Given the description of an element on the screen output the (x, y) to click on. 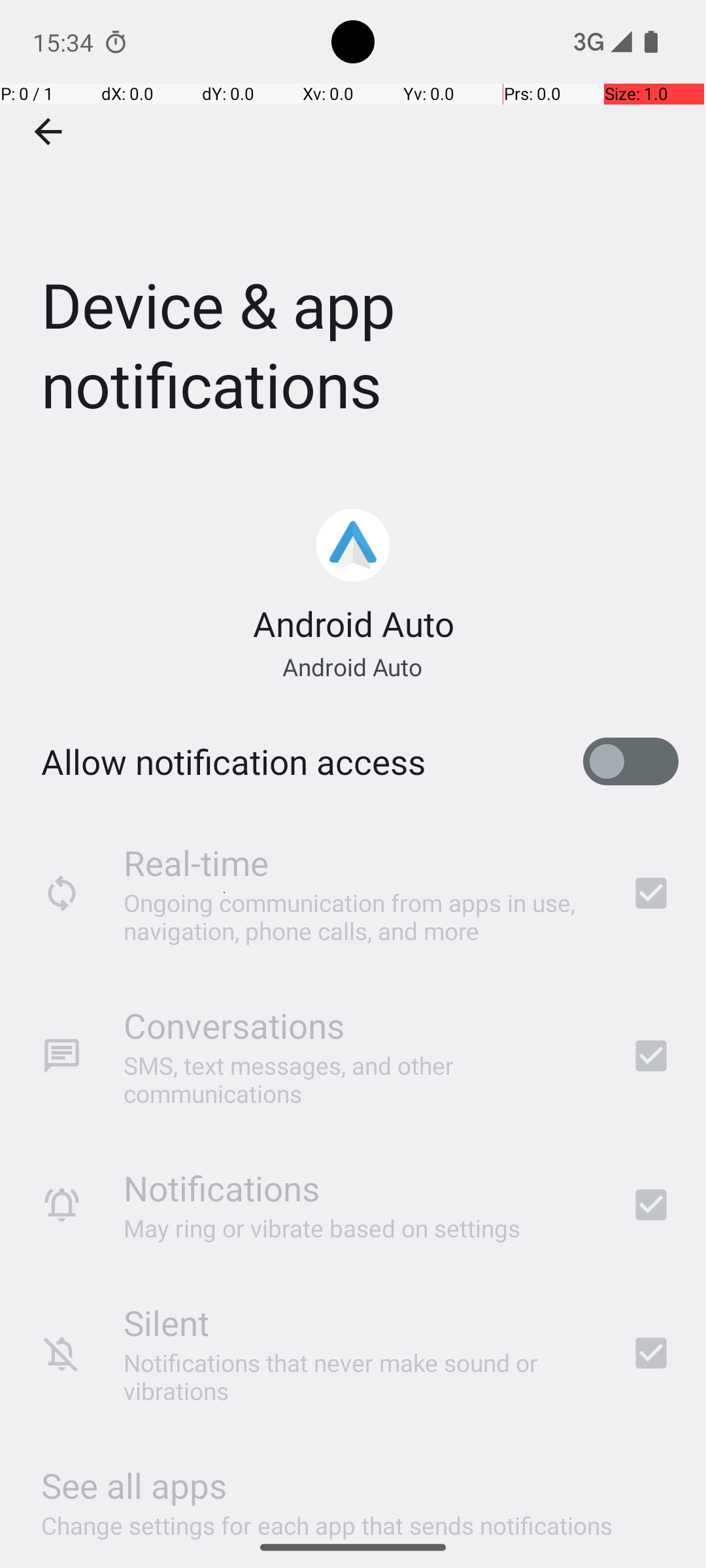
Allow notification access Element type: android.widget.TextView (233, 761)
Real-time Element type: android.widget.TextView (195, 862)
Ongoing communication from apps in use, navigation, phone calls, and more Element type: android.widget.TextView (359, 916)
SMS, text messages, and other communications Element type: android.widget.TextView (359, 1079)
May ring or vibrate based on settings Element type: android.widget.TextView (322, 1227)
Notifications that never make sound or vibrations Element type: android.widget.TextView (359, 1376)
See all apps Element type: android.widget.TextView (133, 1485)
Change settings for each app that sends notifications Element type: android.widget.TextView (326, 1517)
